Given the description of an element on the screen output the (x, y) to click on. 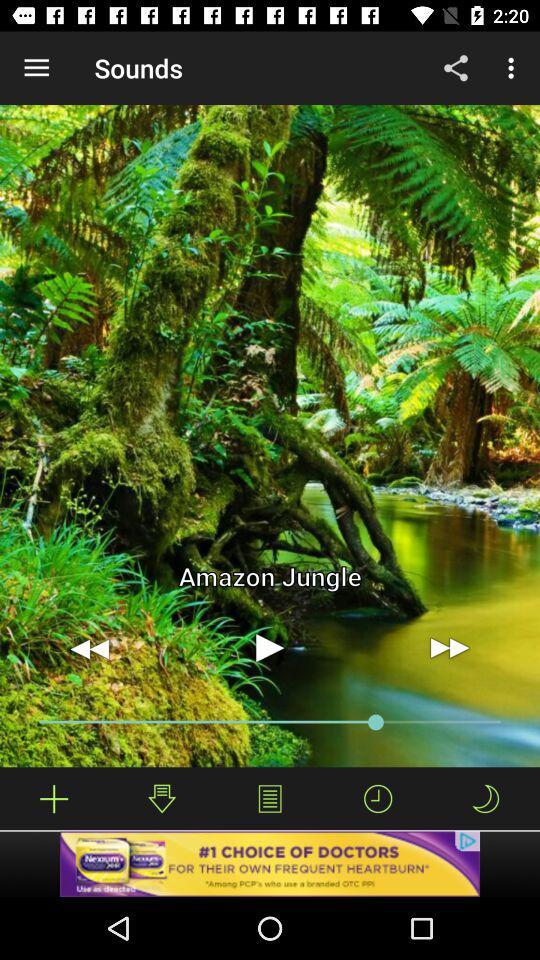
skip forward (450, 648)
